Given the description of an element on the screen output the (x, y) to click on. 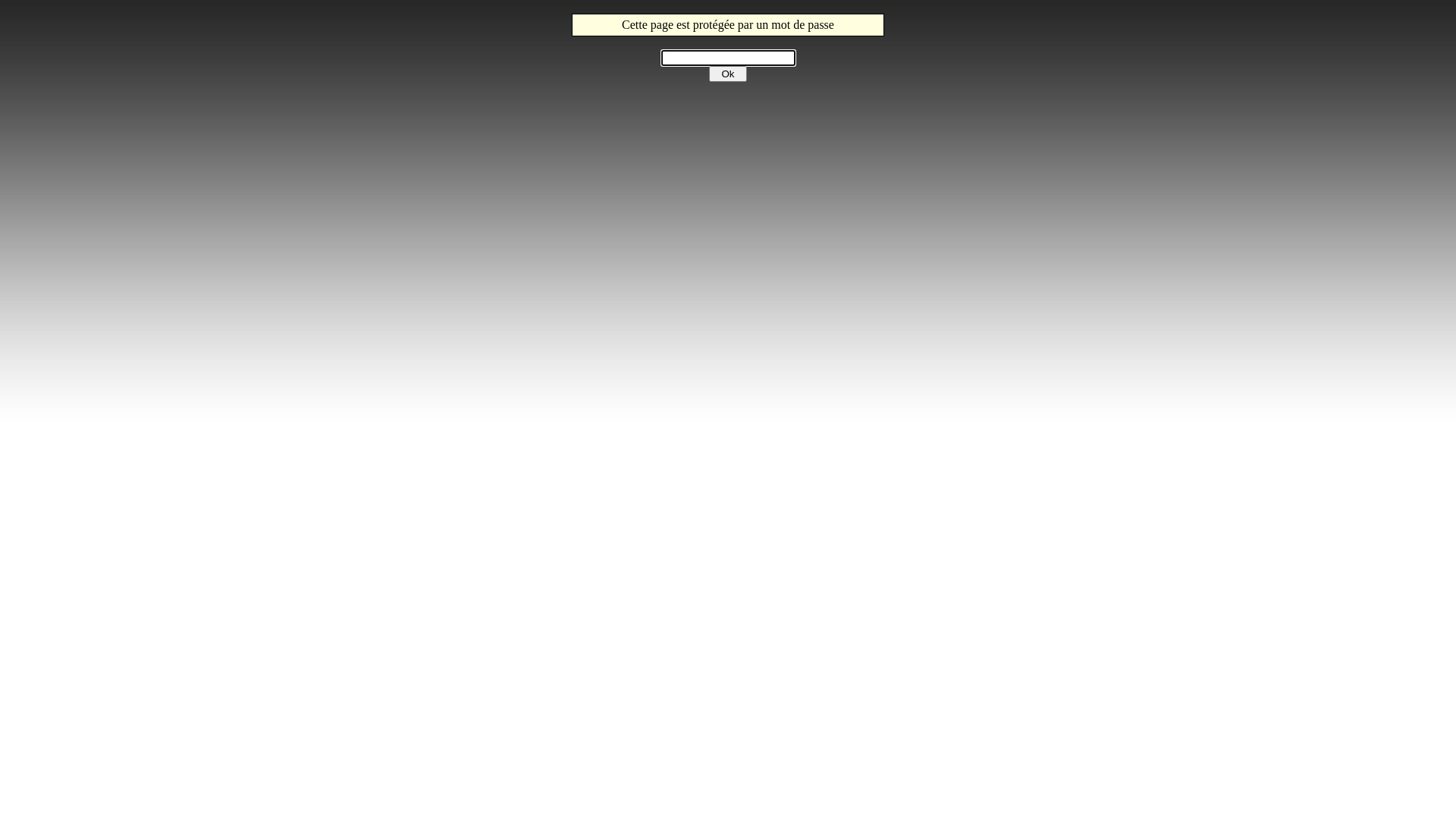
Ok Element type: text (727, 73)
